Given the description of an element on the screen output the (x, y) to click on. 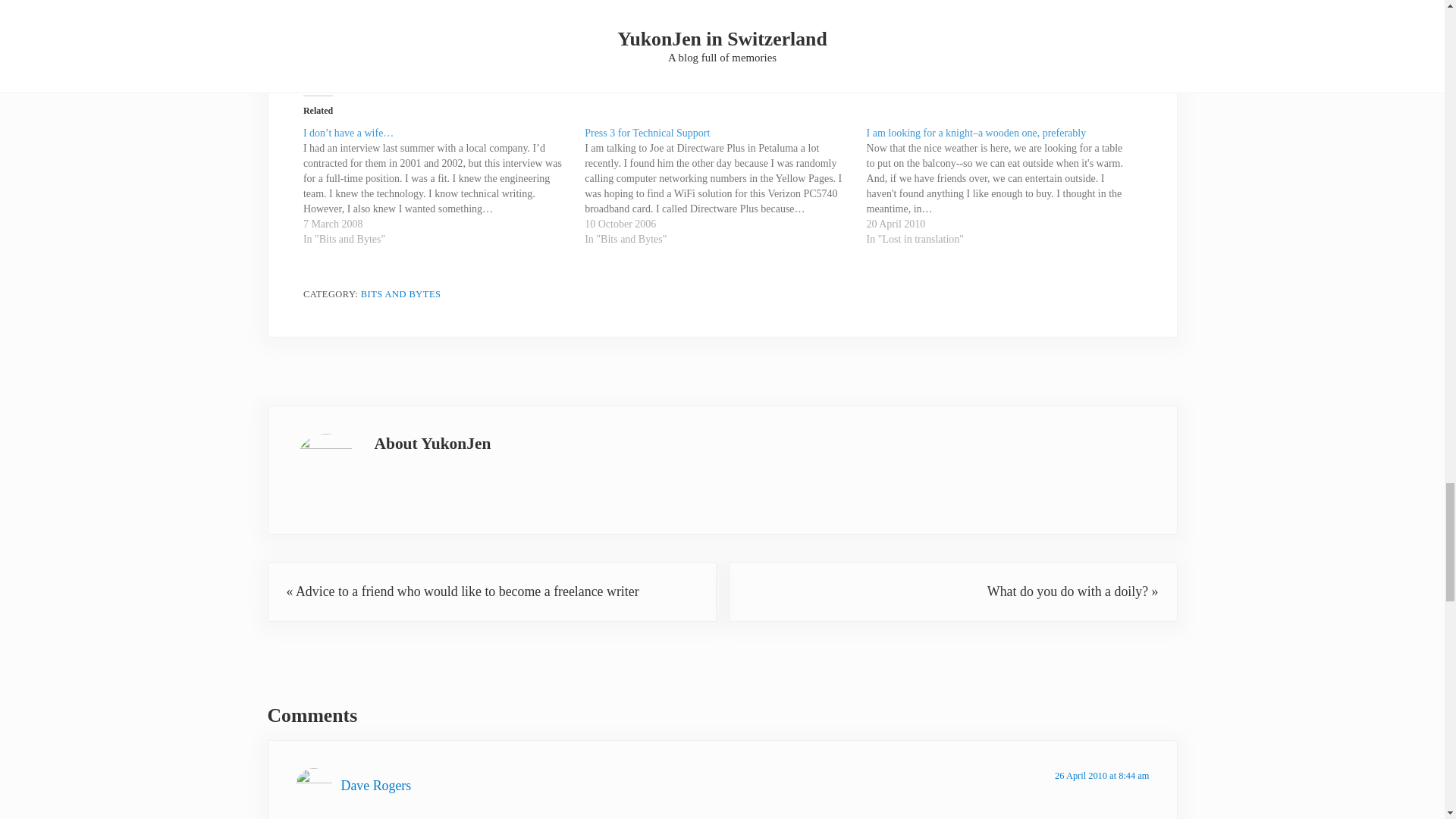
BITS AND BYTES (401, 294)
Press 3 for Technical Support (647, 132)
Press 3 for Technical Support (725, 186)
9068Creative.com (791, 57)
Dave Rogers (376, 785)
Press 3 for Technical Support (647, 132)
26 April 2010 at 8:44 am (1101, 775)
